Given the description of an element on the screen output the (x, y) to click on. 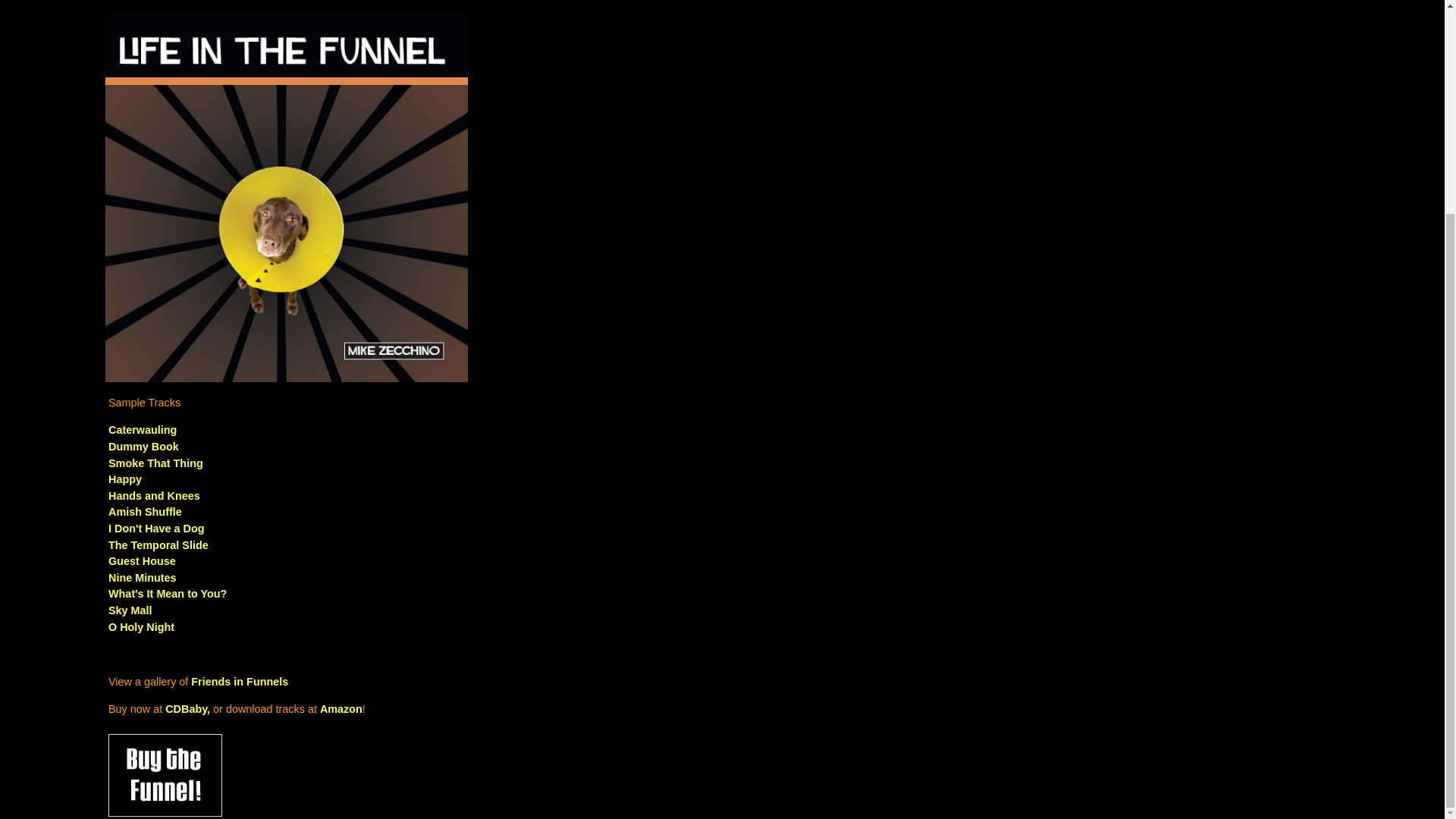
Nine Minutes (141, 577)
Amazon (341, 708)
What's It Mean to You? (167, 593)
Smoke That Thing (155, 463)
O Holy Night (140, 626)
Happy (124, 479)
I Don't Have a Dog (156, 528)
The Temporal Slide (157, 544)
Caterwauling (141, 429)
Hands and Knees (153, 495)
